Given the description of an element on the screen output the (x, y) to click on. 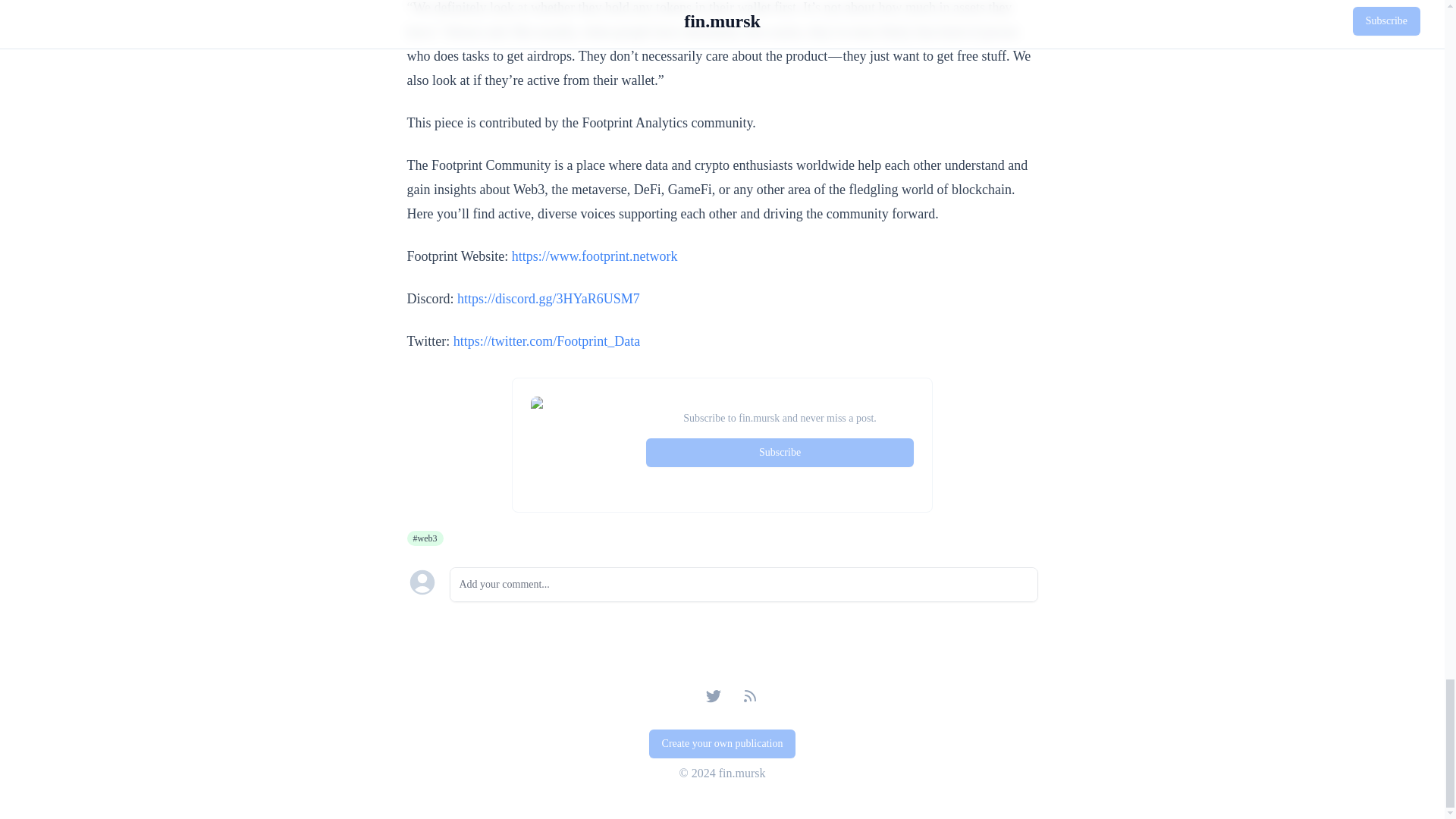
Create your own publication (722, 743)
Subscribe (780, 452)
RSS (748, 696)
Twitter (712, 696)
